Given the description of an element on the screen output the (x, y) to click on. 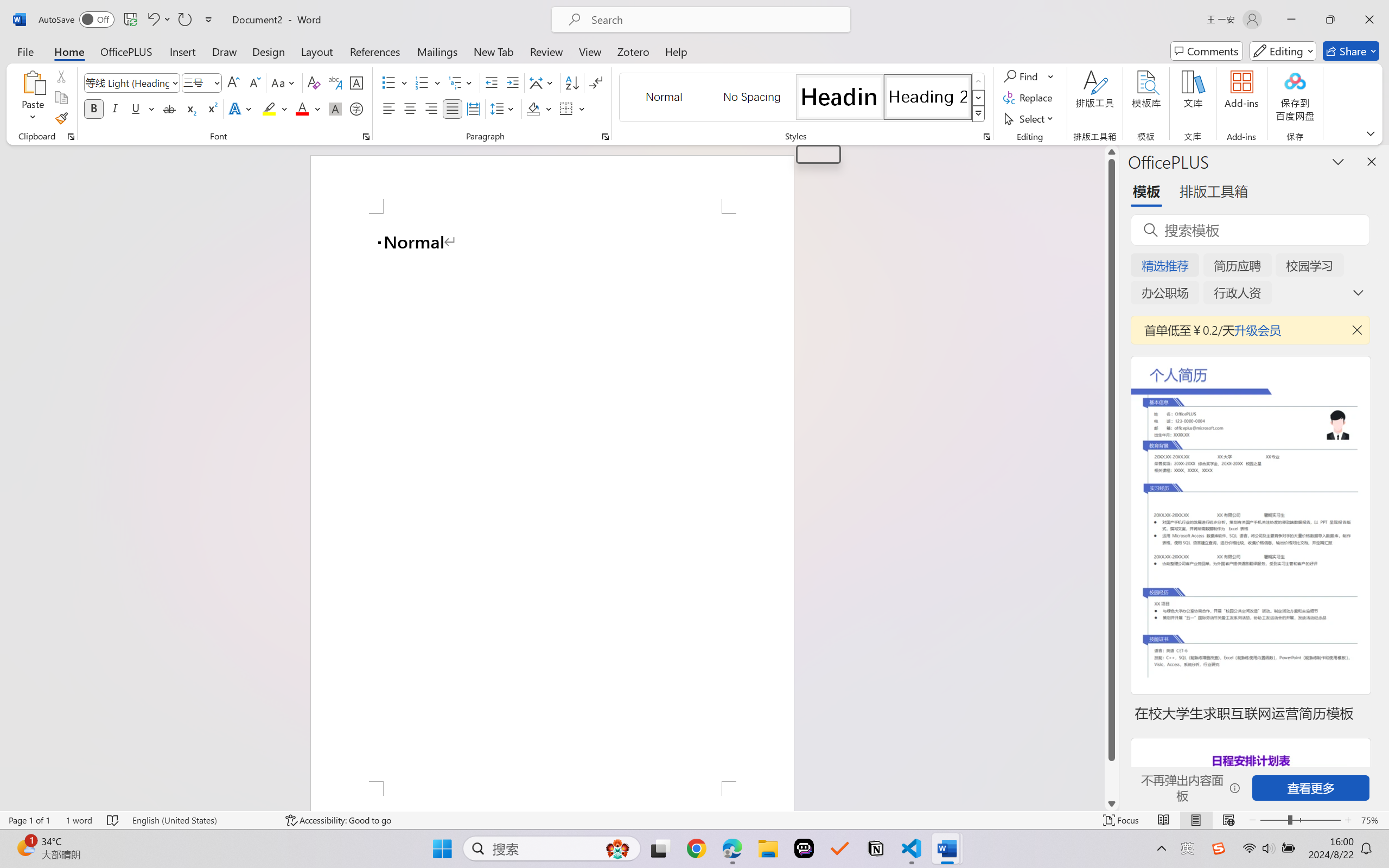
Font (126, 82)
Microsoft search (715, 19)
Zoom Out (1273, 819)
Asian Layout (542, 82)
Borders (571, 108)
Font Size (201, 82)
Change Case (284, 82)
OfficePLUS (126, 51)
Character Shading (334, 108)
Language English (United States) (201, 819)
Undo Typing (158, 19)
Numbering (428, 82)
Quick Access Toolbar (127, 19)
